Given the description of an element on the screen output the (x, y) to click on. 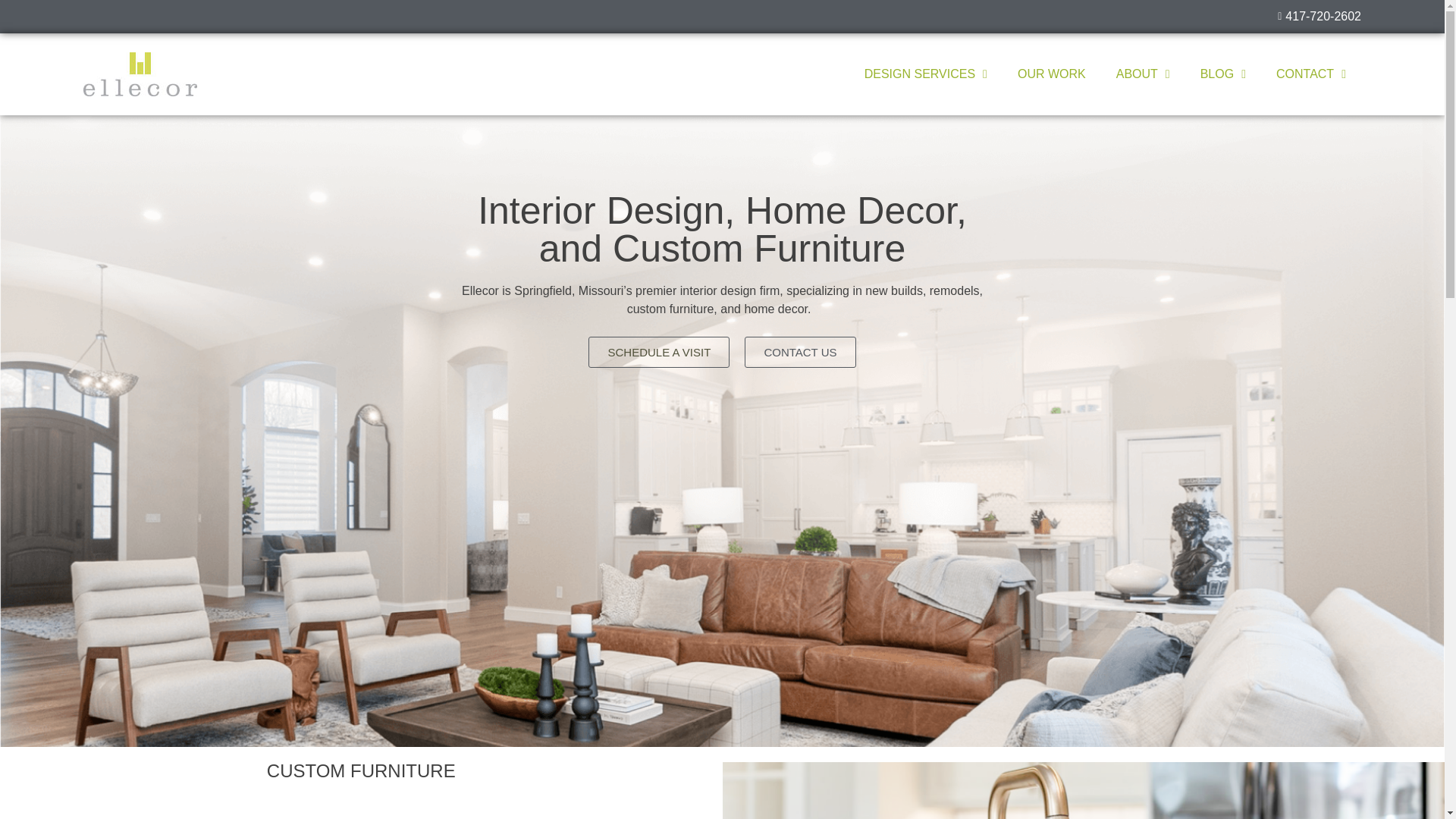
417-720-2602 (851, 16)
DESIGN SERVICES (925, 73)
BLOG (1222, 73)
ABOUT (1142, 73)
OUR WORK (1051, 73)
CONTACT (1310, 73)
